Given the description of an element on the screen output the (x, y) to click on. 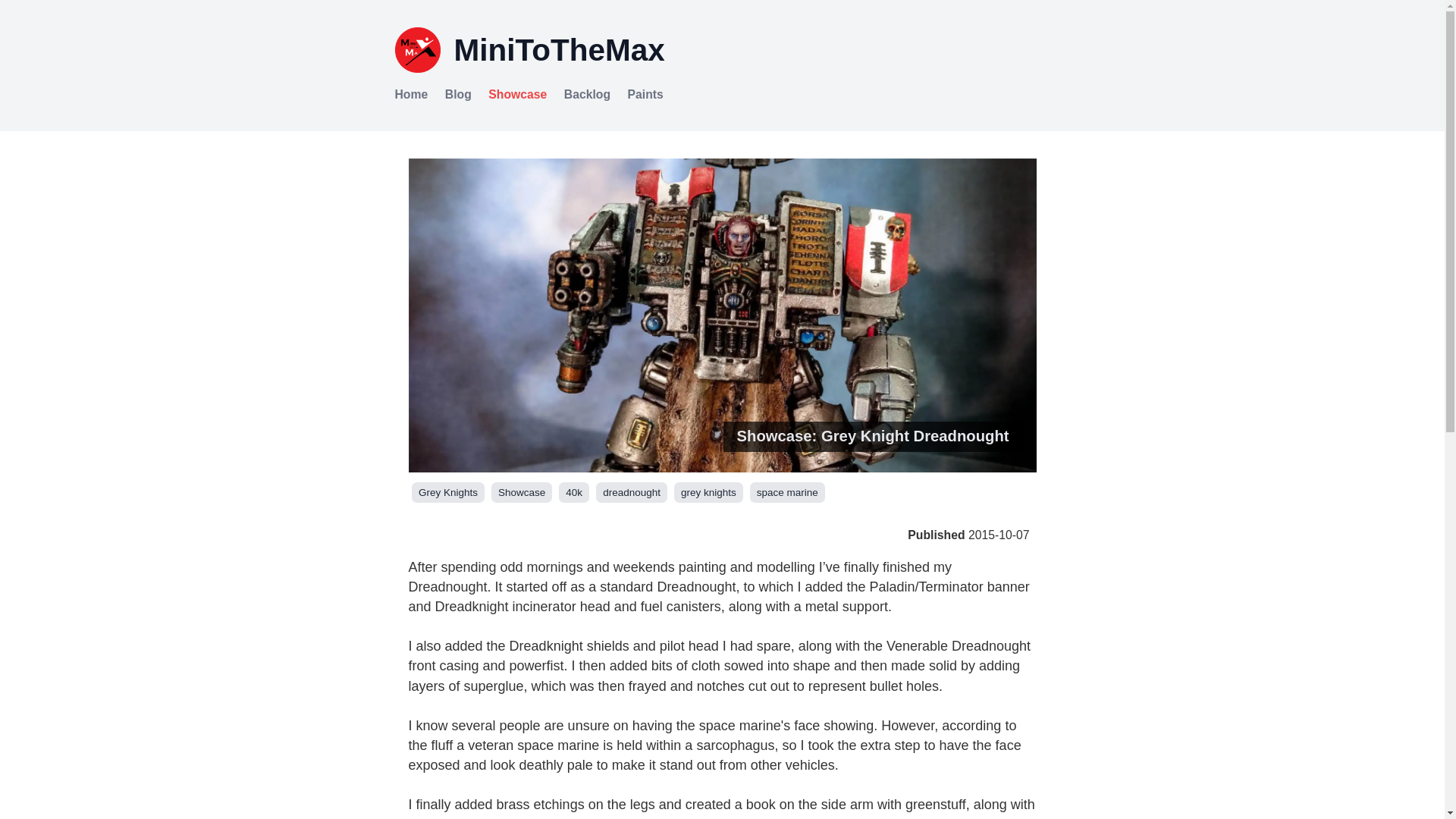
dreadnought (630, 492)
Blog (458, 95)
Showcase (521, 492)
Paints (645, 95)
MiniToTheMax (721, 56)
Grey Knights (448, 492)
grey knights (708, 492)
Backlog (587, 95)
Showcase (517, 95)
40k (574, 492)
